Given the description of an element on the screen output the (x, y) to click on. 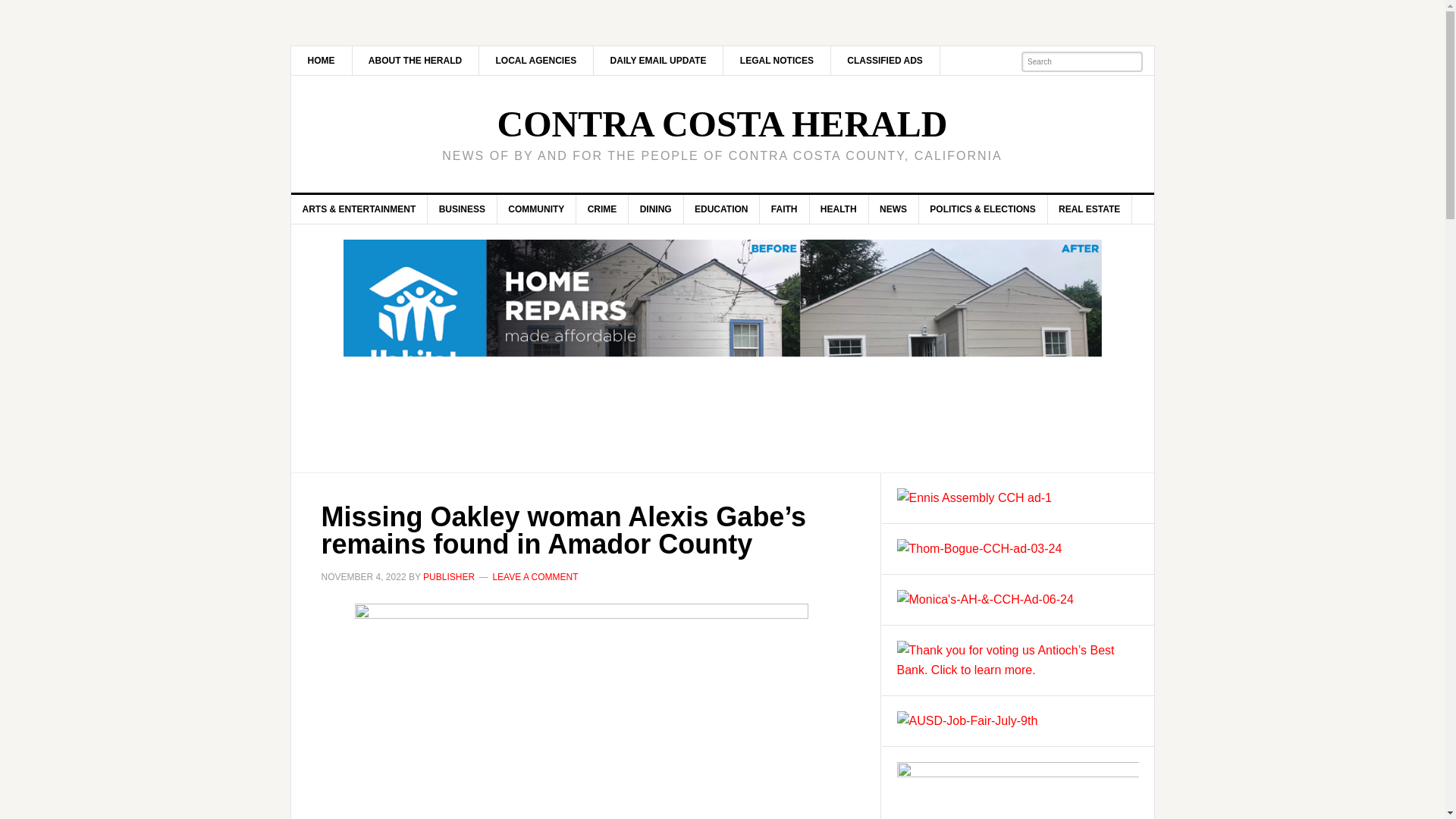
PUBLISHER (448, 576)
EDUCATION (721, 208)
LEAVE A COMMENT (535, 576)
CONTRA COSTA HERALD (722, 124)
BUSINESS (462, 208)
DINING (656, 208)
HEALTH (839, 208)
HOME (321, 60)
COMMUNITY (536, 208)
